Given the description of an element on the screen output the (x, y) to click on. 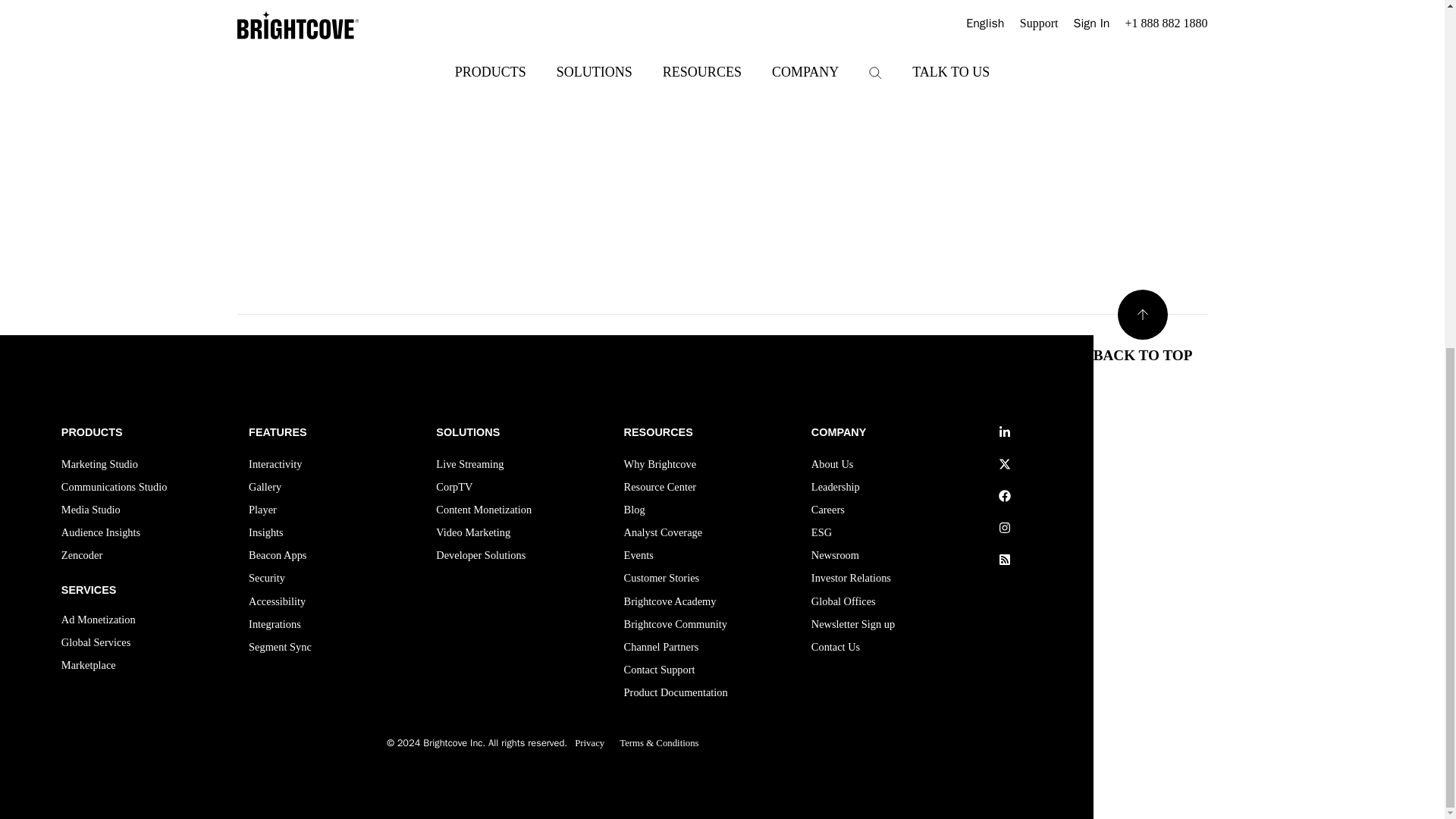
Gallery (264, 488)
Audience Insights (100, 534)
Insights (265, 534)
Interactivity (274, 465)
Beacon Apps (276, 557)
Ad Monetization (98, 621)
Player (262, 511)
Marketing Studio (99, 465)
Security (266, 579)
Global Services (96, 644)
Marketplace (88, 667)
Communications Studio (114, 488)
Media Studio (90, 511)
Zencoder (81, 557)
